Given the description of an element on the screen output the (x, y) to click on. 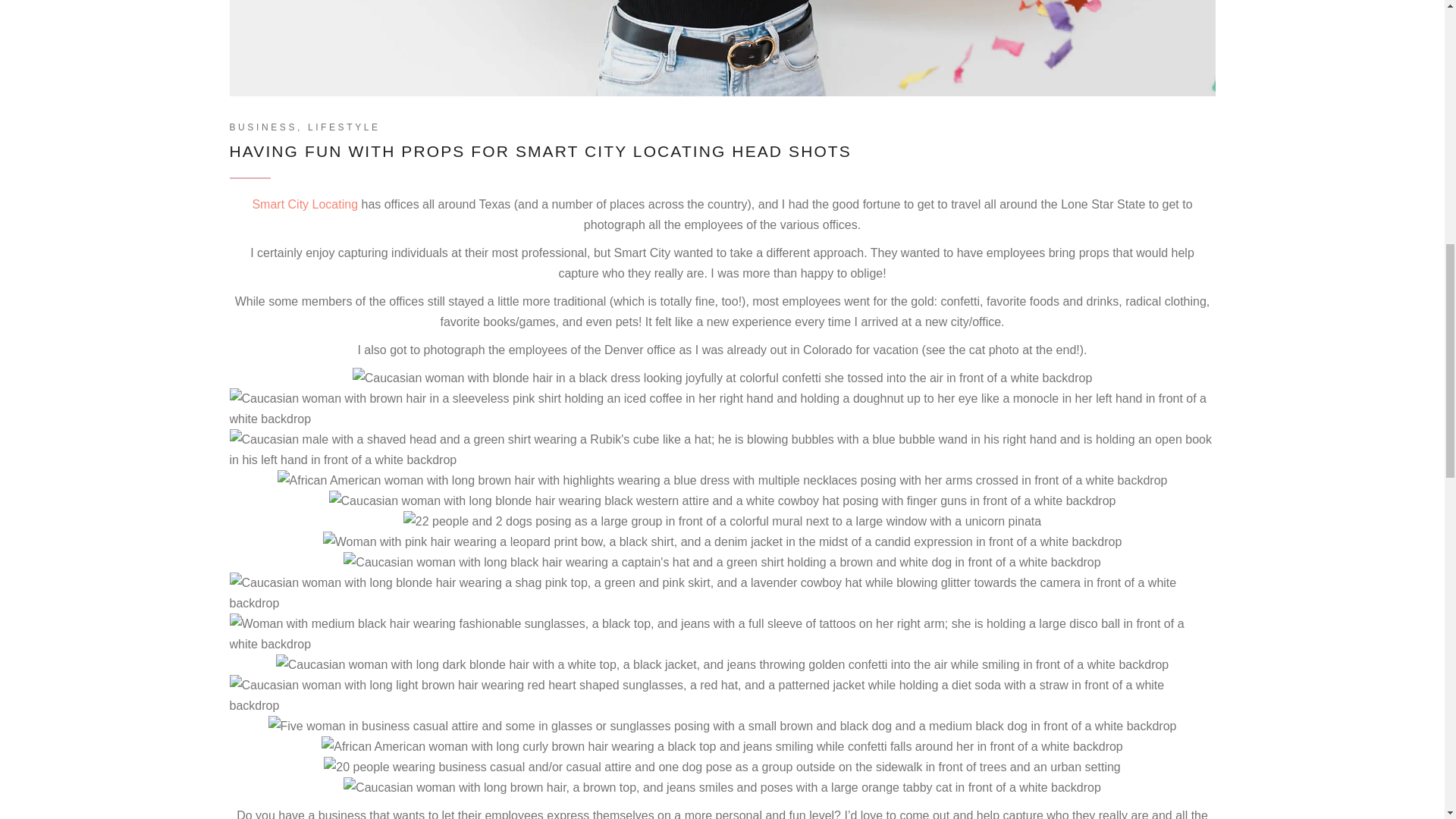
Smart City Locating (304, 204)
LIFESTYLE (343, 127)
BUSINESS (262, 127)
